Given the description of an element on the screen output the (x, y) to click on. 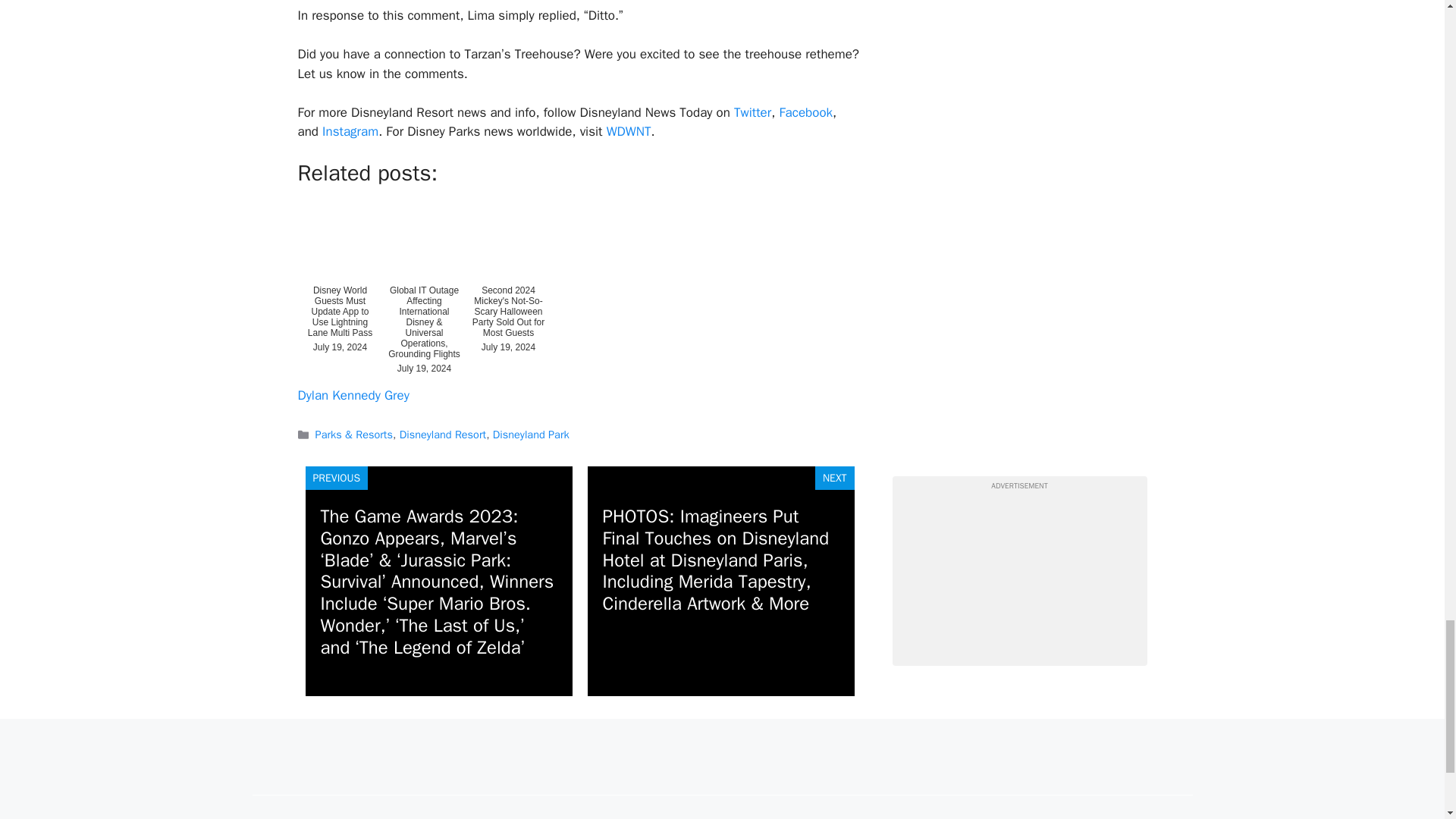
Dylan Kennedy Grey (353, 395)
